Given the description of an element on the screen output the (x, y) to click on. 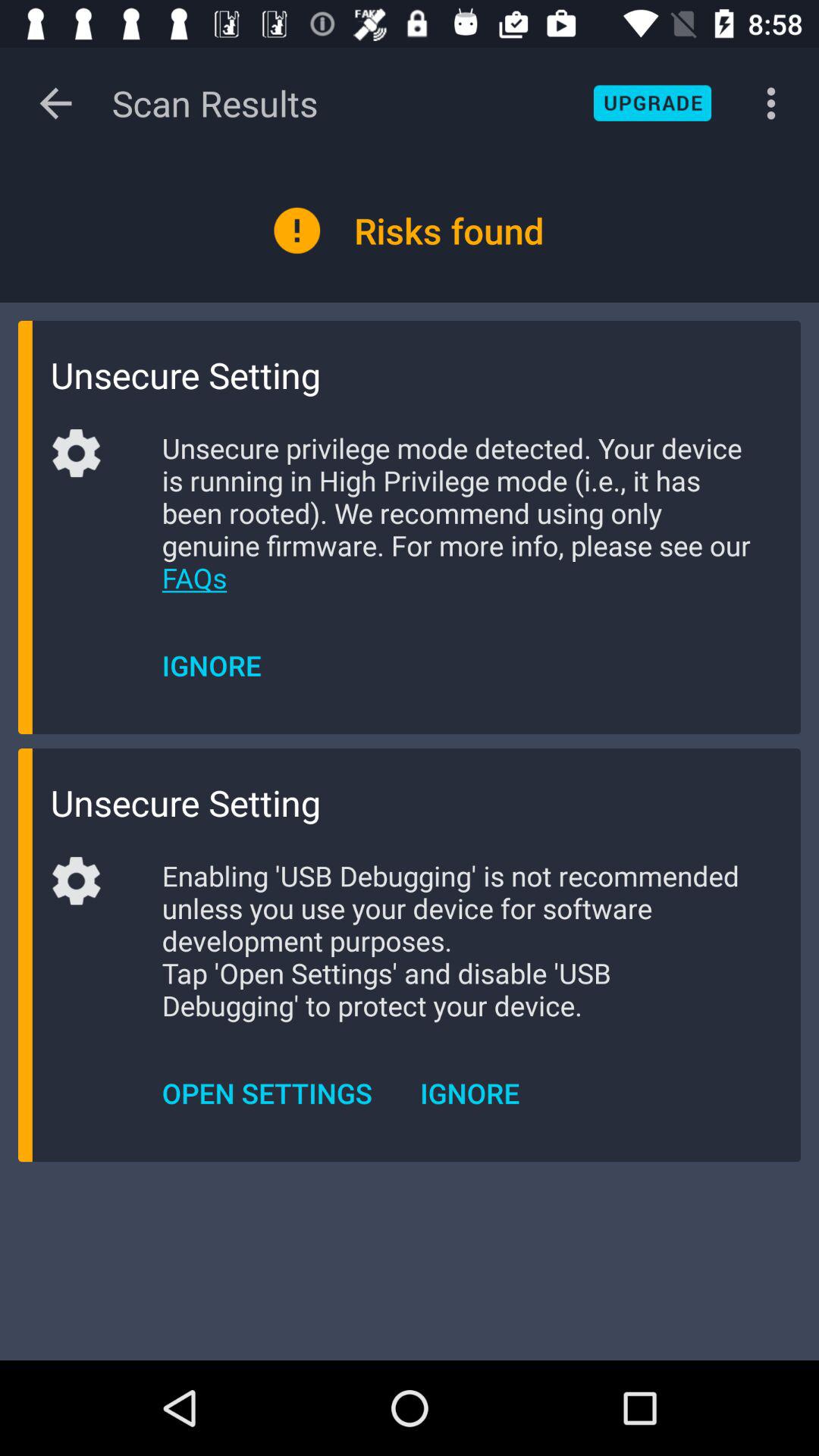
turn on item next to the scan results icon (652, 103)
